Given the description of an element on the screen output the (x, y) to click on. 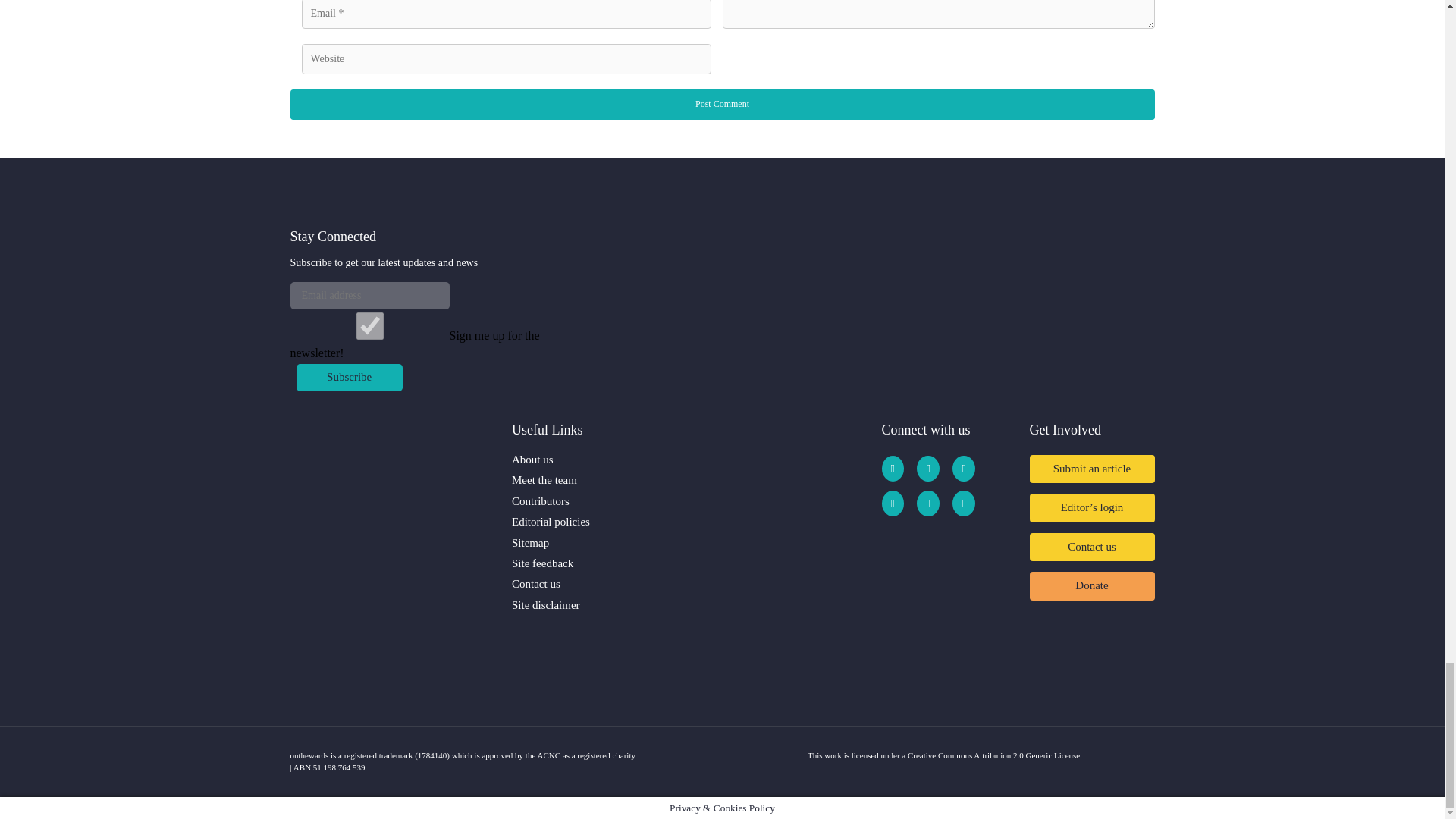
Post Comment (721, 104)
Subscribe (348, 377)
1 (368, 325)
